Given the description of an element on the screen output the (x, y) to click on. 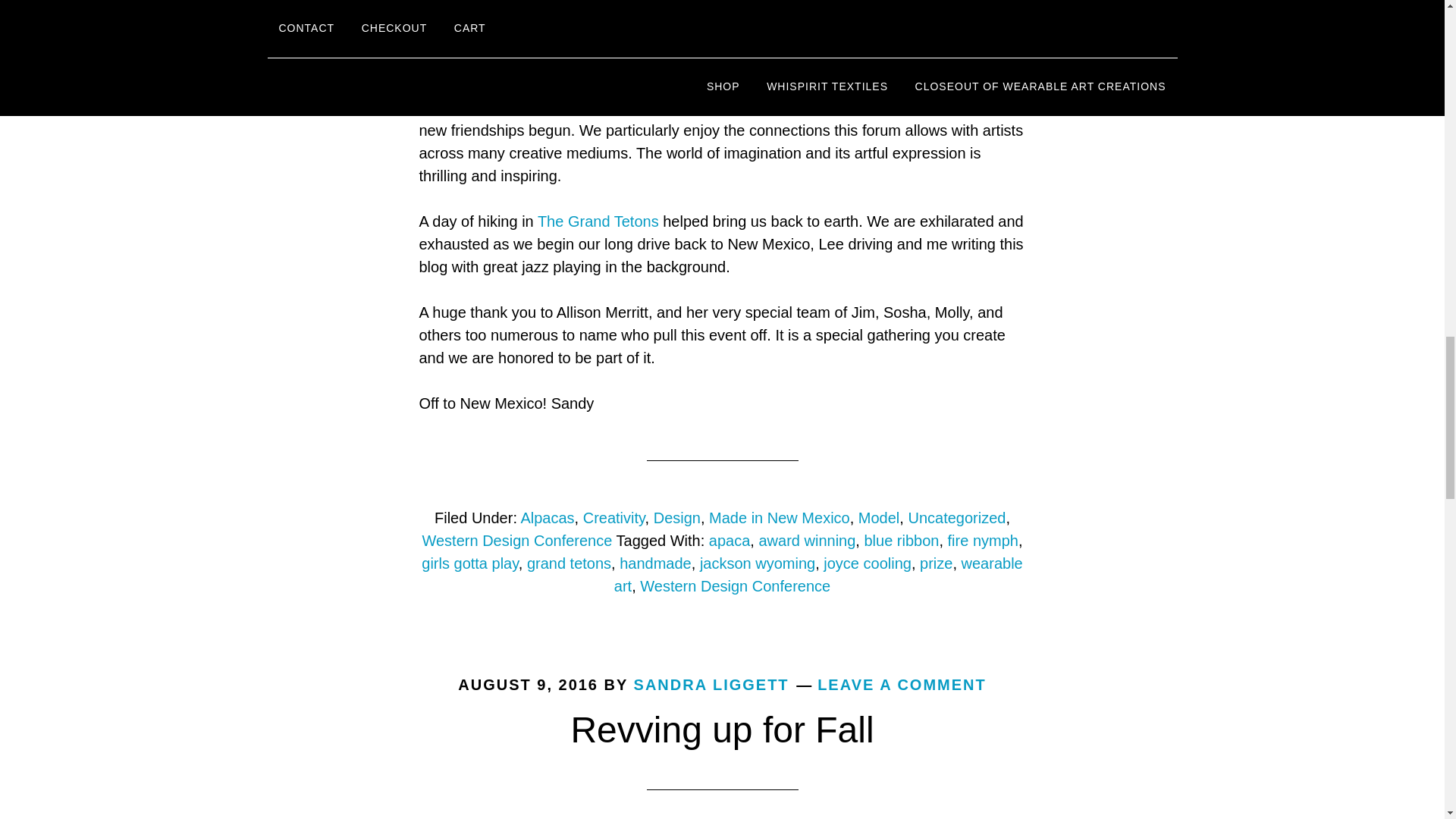
Creativity (614, 517)
girls gotta play (470, 563)
Revving up for Fall (721, 730)
apaca (730, 540)
Uncategorized (956, 517)
Western Design Conference (734, 586)
jackson wyoming (757, 563)
SANDRA LIGGETT (711, 684)
prize (936, 563)
Western Design Conference (516, 540)
